Given the description of an element on the screen output the (x, y) to click on. 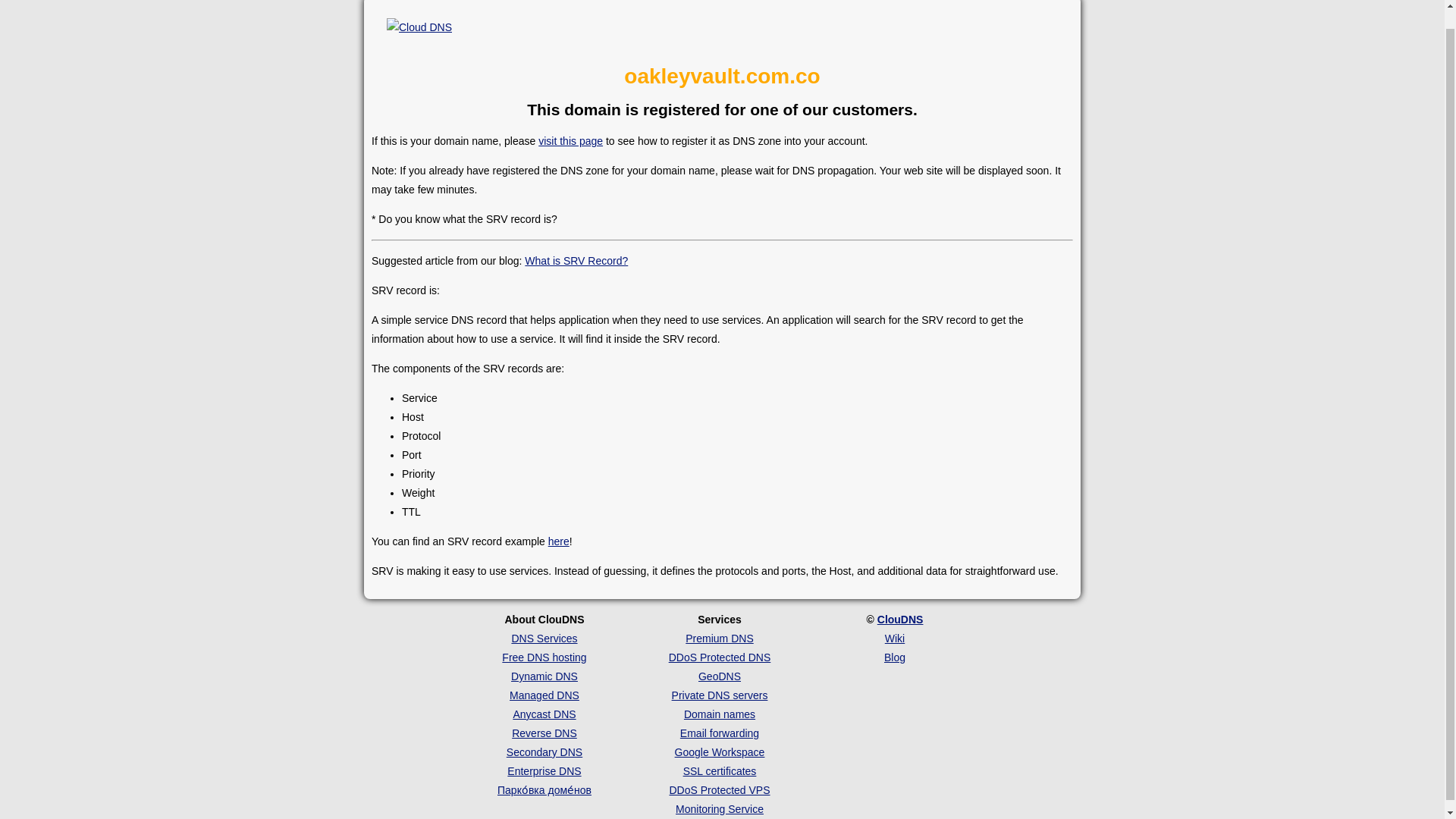
Google Workspace (720, 752)
Email forwarding (718, 733)
SSL certificates (719, 770)
Private DNS servers (719, 695)
Premium DNS (718, 638)
Enterprise DNS (543, 770)
Free DNS hosting (544, 657)
ClouDNS (900, 619)
What is SRV Record? (575, 260)
Secondary DNS (544, 752)
Anycast DNS (543, 714)
Cloud DNS (419, 27)
Blog (894, 657)
Reverse DNS (544, 733)
Domain names (719, 714)
